Given the description of an element on the screen output the (x, y) to click on. 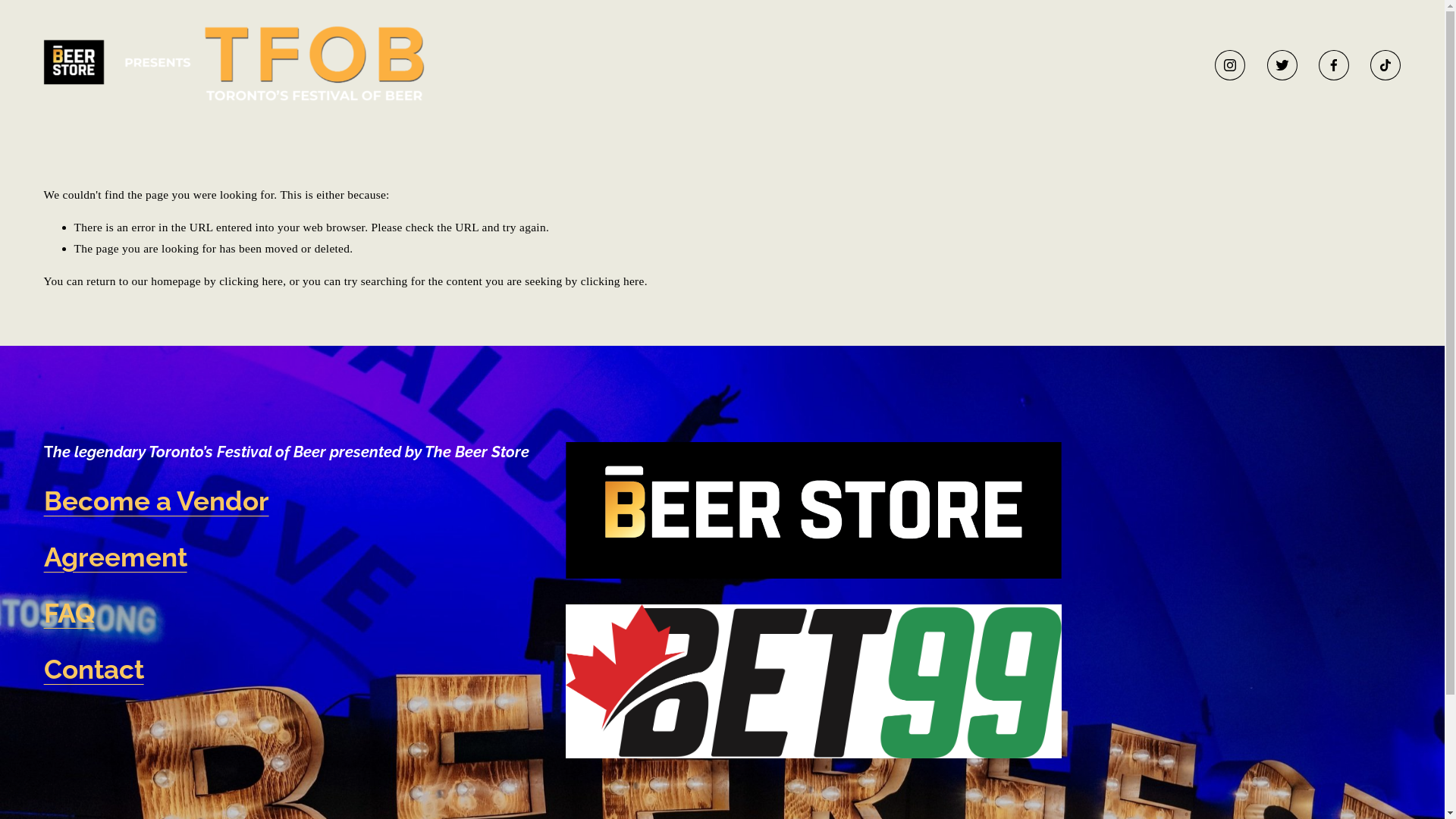
FAQ Element type: text (68, 613)
Contact Element type: text (93, 669)
Agreement Element type: text (115, 556)
Become a Vendor Element type: text (156, 500)
clicking here Element type: text (250, 280)
clicking here Element type: text (612, 280)
